Given the description of an element on the screen output the (x, y) to click on. 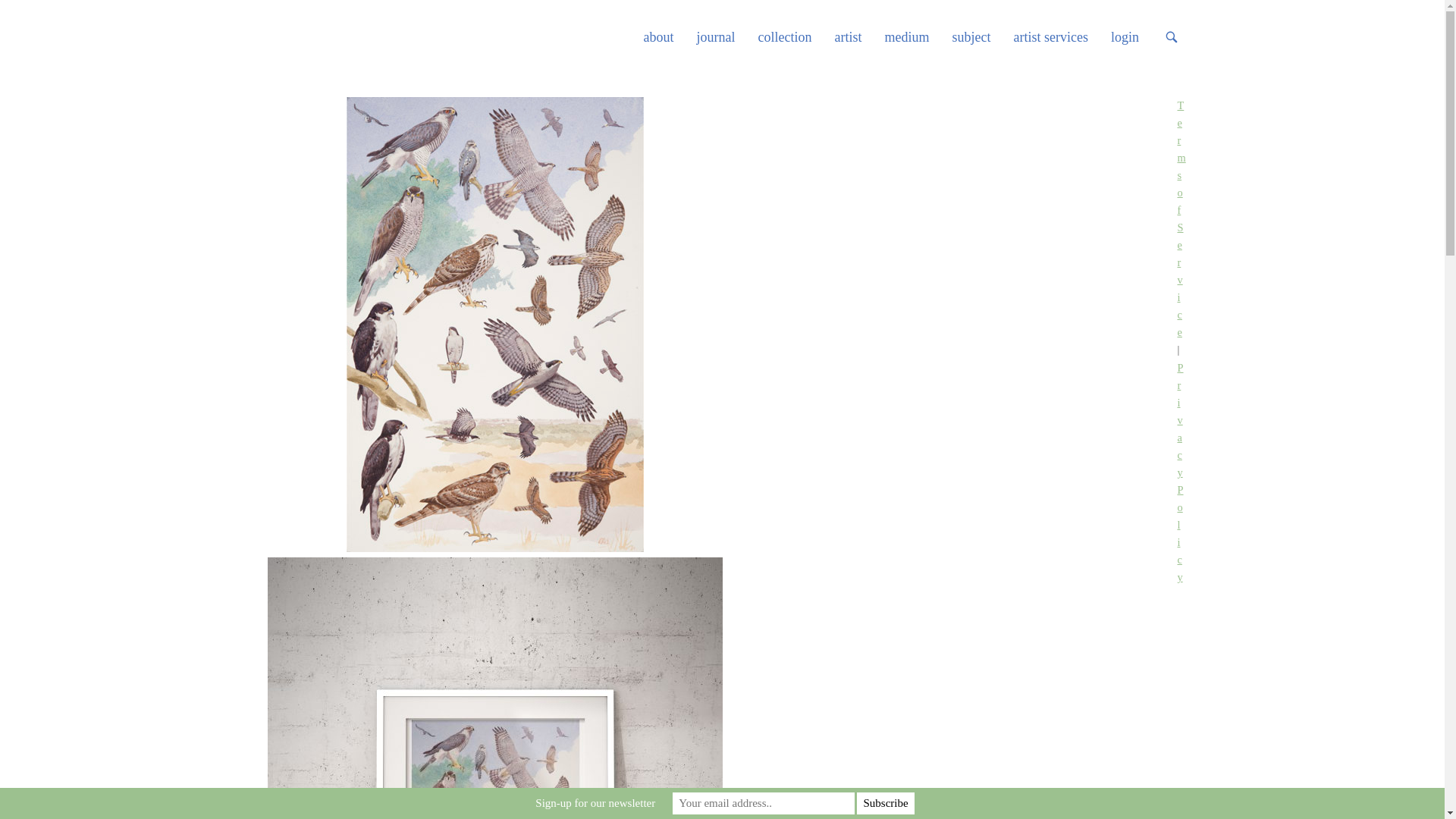
artist services (1061, 36)
collection (796, 36)
journal (727, 36)
artist (859, 36)
Poster mock-up (494, 688)
Subscribe (885, 803)
subject (982, 36)
OPEN SEARCH BAR (1170, 37)
medium (918, 36)
about (670, 36)
login (1135, 36)
